Given the description of an element on the screen output the (x, y) to click on. 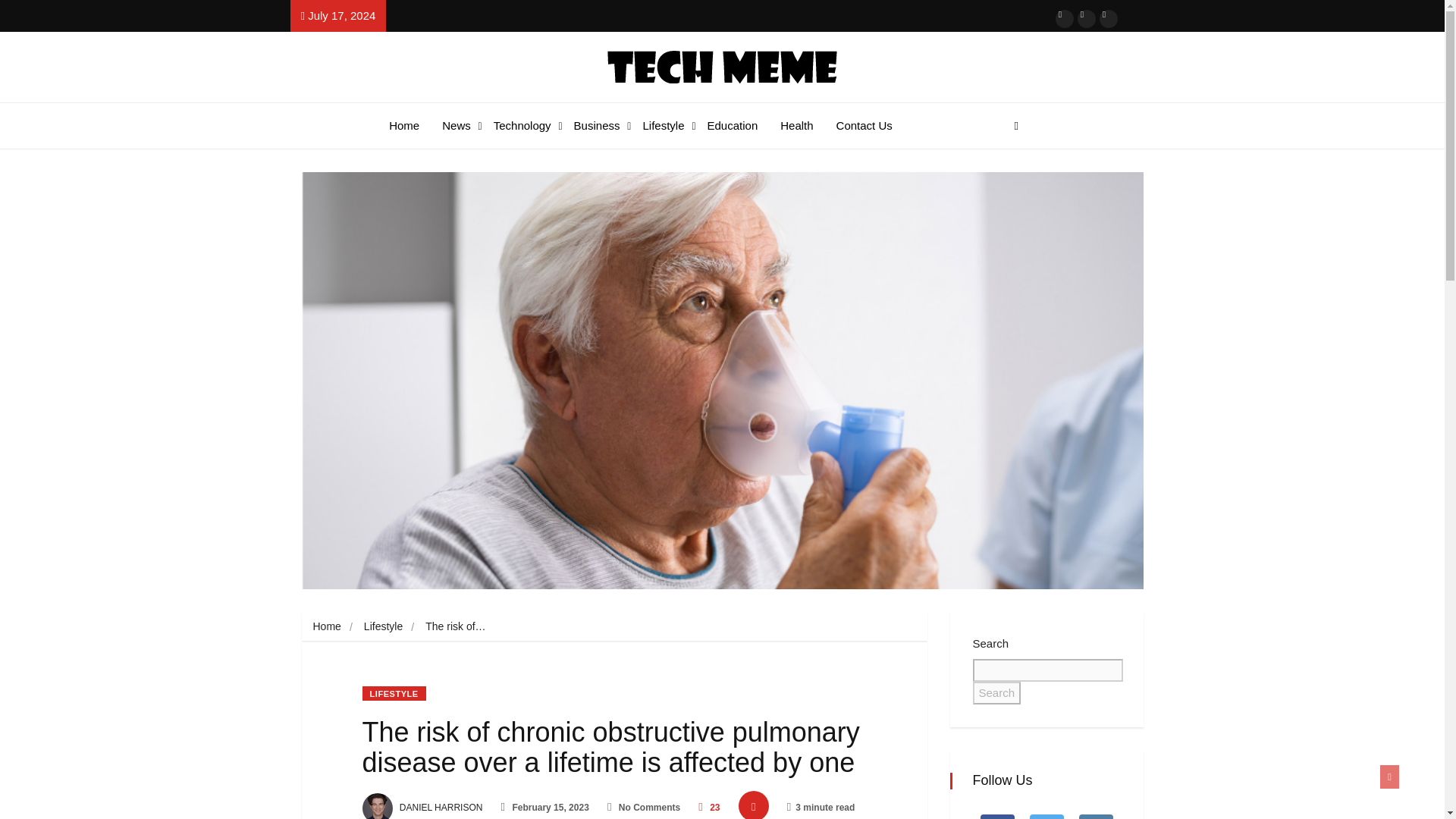
DANIEL HARRISON (422, 807)
Education (997, 813)
Business (736, 125)
Health (600, 125)
LIFESTYLE (800, 125)
Home (394, 693)
Lifestyle (407, 125)
Technology (666, 125)
Home (526, 125)
Search (1094, 813)
Contact Us (326, 625)
News (996, 692)
